Given the description of an element on the screen output the (x, y) to click on. 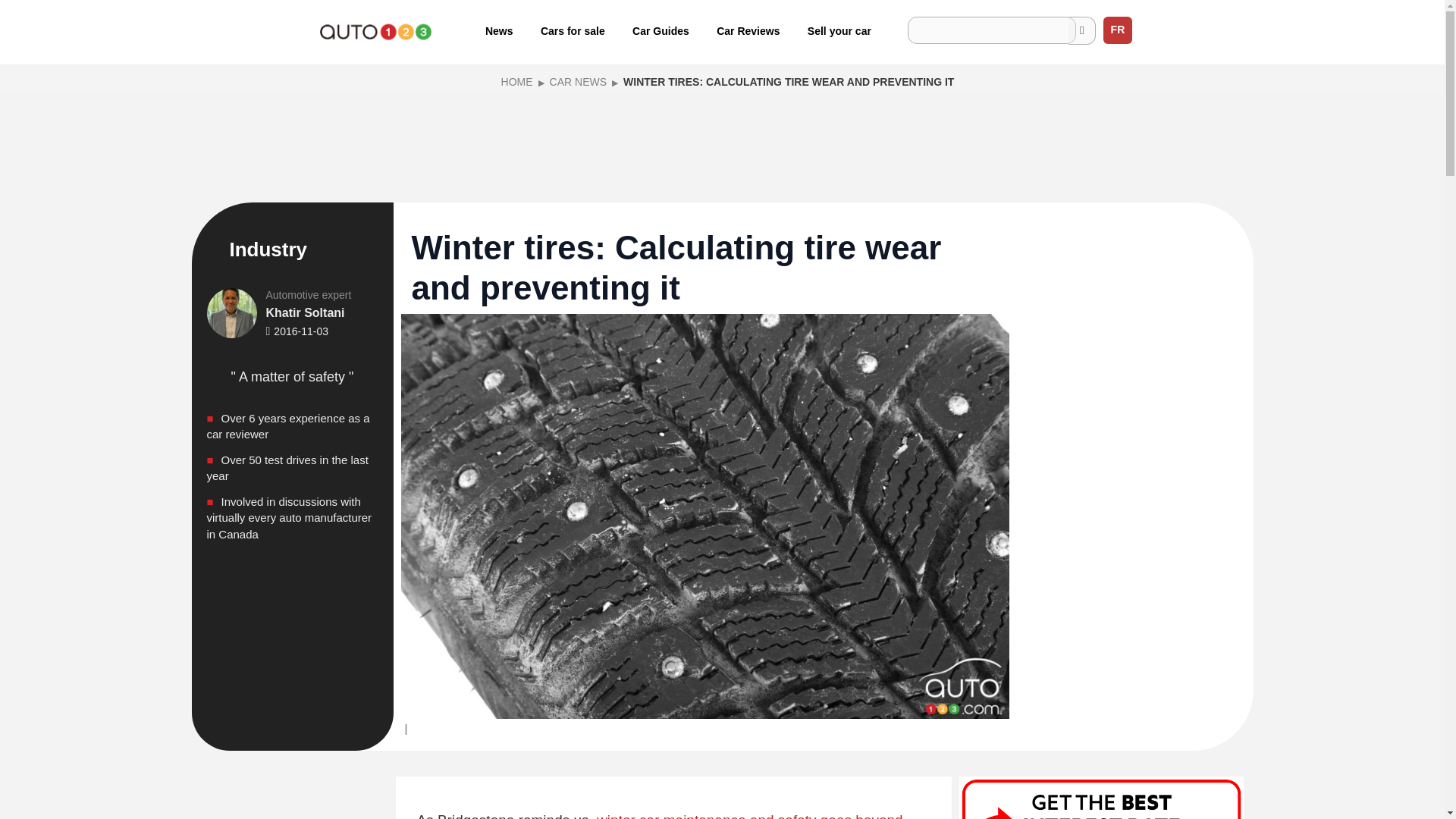
Car Reviews (748, 30)
Cars for sale (572, 30)
News (499, 30)
Sell your car (839, 30)
Car Guides (660, 30)
Sell your car (839, 30)
Cars for sale (572, 30)
Car Reviews (748, 30)
Car Guides (660, 30)
News (499, 30)
